Given the description of an element on the screen output the (x, y) to click on. 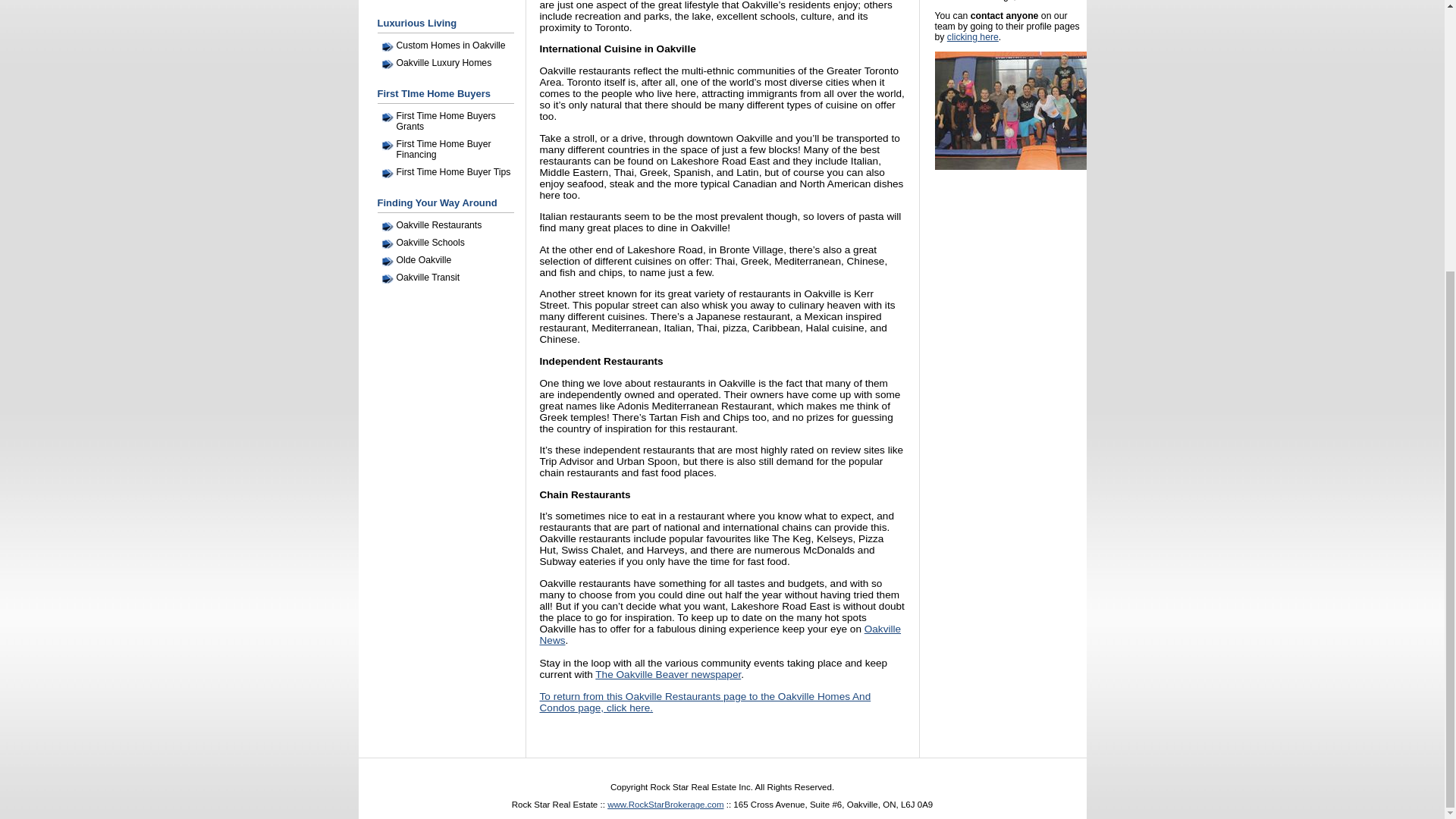
The Oakville Beaver newspaper (668, 674)
Olde Oakville (452, 259)
Oakville Restaurants (452, 224)
First Time Home Buyers Grants (452, 121)
Oakville News (720, 634)
www.RockStarBrokerage.com (665, 804)
clicking here (972, 36)
Custom Homes in Oakville (452, 45)
Oakville Schools (452, 242)
First Time Home Buyer Financing (452, 149)
